Given the description of an element on the screen output the (x, y) to click on. 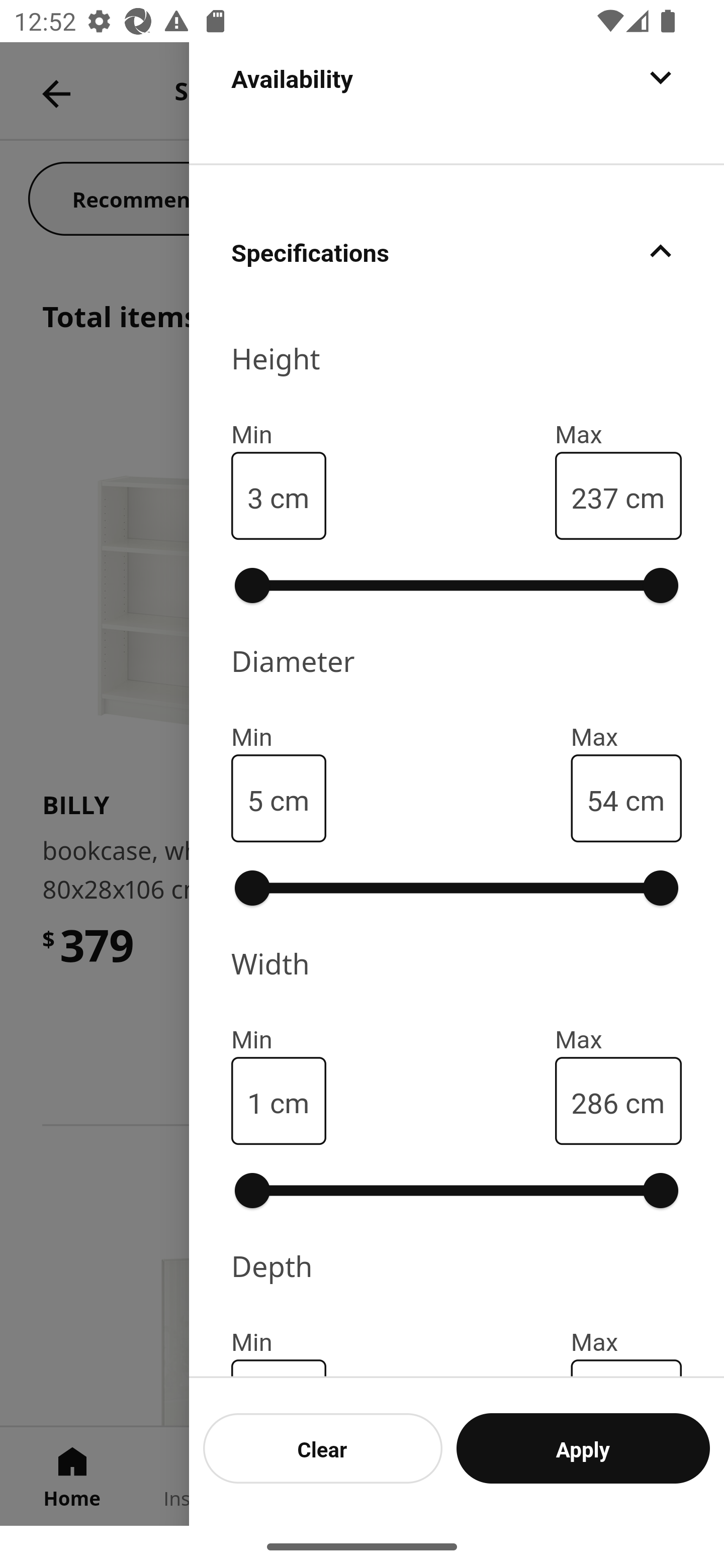
Availability (456, 101)
Specifications (456, 250)
 cm 3 (278, 495)
 cm 237 (618, 495)
3 (254, 496)
237 (594, 496)
0% 100% (456, 585)
 cm 5 (278, 798)
 cm 54 (626, 798)
5 (254, 798)
54 (602, 798)
0% 100% (456, 888)
 cm 1 (278, 1100)
 cm 286 (618, 1100)
1 (254, 1101)
286 (594, 1101)
0% 100% (456, 1190)
Clear (322, 1447)
Apply (583, 1447)
